Given the description of an element on the screen output the (x, y) to click on. 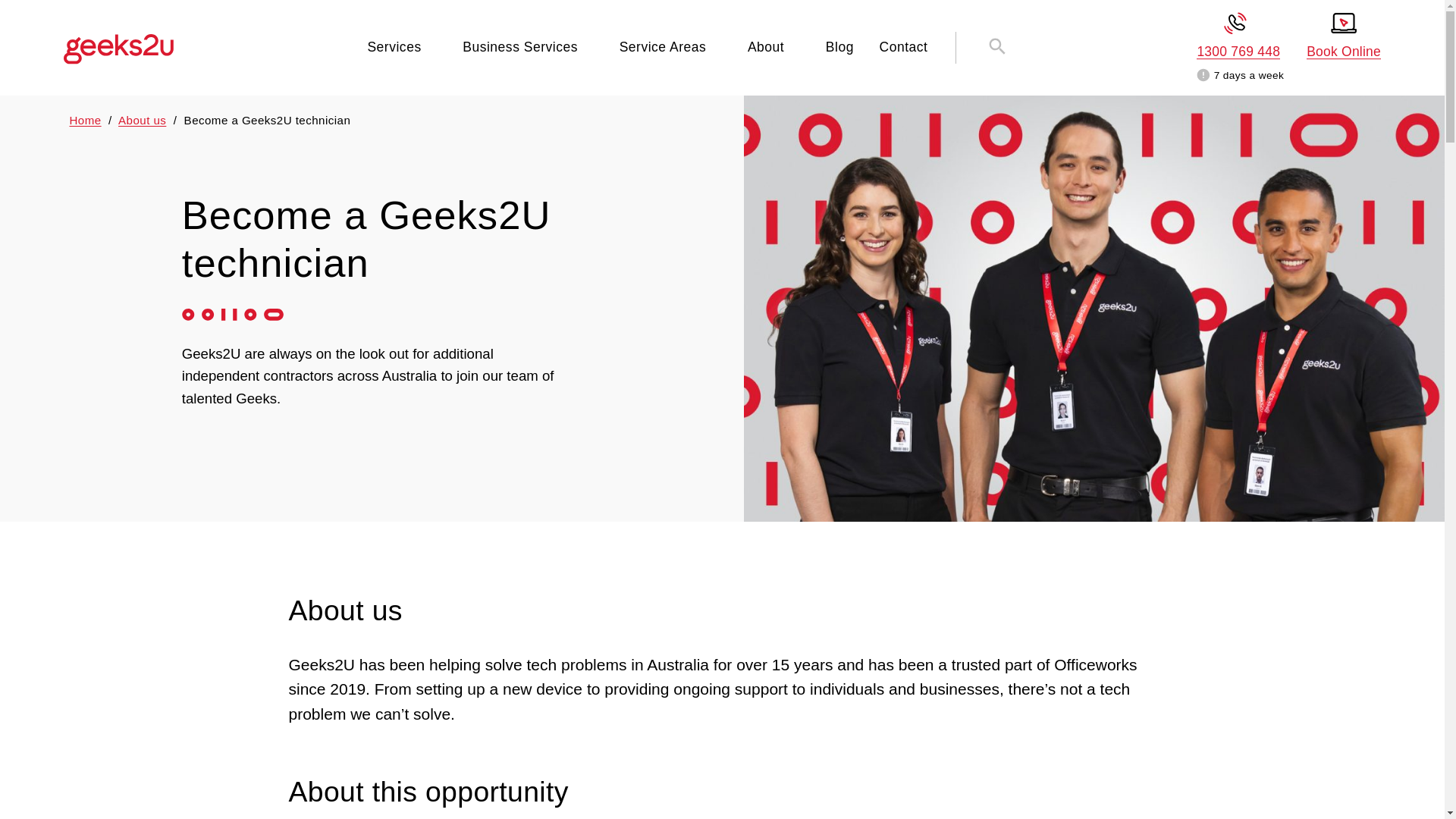
Business Services (520, 46)
Go to Geeks2U. (85, 119)
Book online (1343, 35)
Go to About us. (141, 119)
Our available hours (1202, 75)
Services (393, 46)
Service Areas (663, 46)
Go to geeks2u.com.au (118, 48)
Call us (1237, 35)
